Given the description of an element on the screen output the (x, y) to click on. 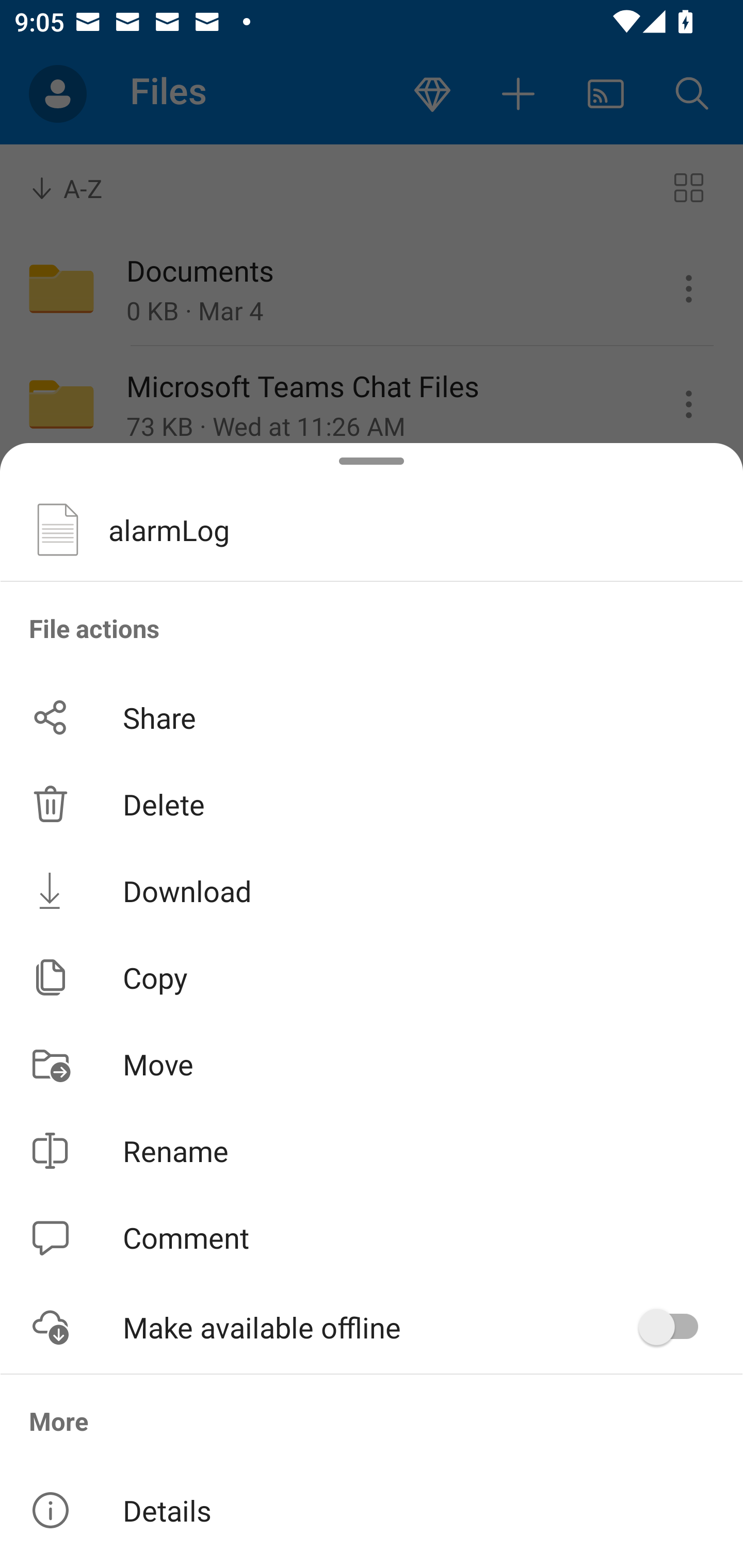
Share button Share (371, 717)
Delete button Delete (371, 803)
Download button Download (371, 890)
Copy button Copy (371, 977)
Move button Move (371, 1063)
Rename button Rename (371, 1150)
Comment button Comment (371, 1237)
Make offline operation (674, 1327)
Details button Details (371, 1510)
